Given the description of an element on the screen output the (x, y) to click on. 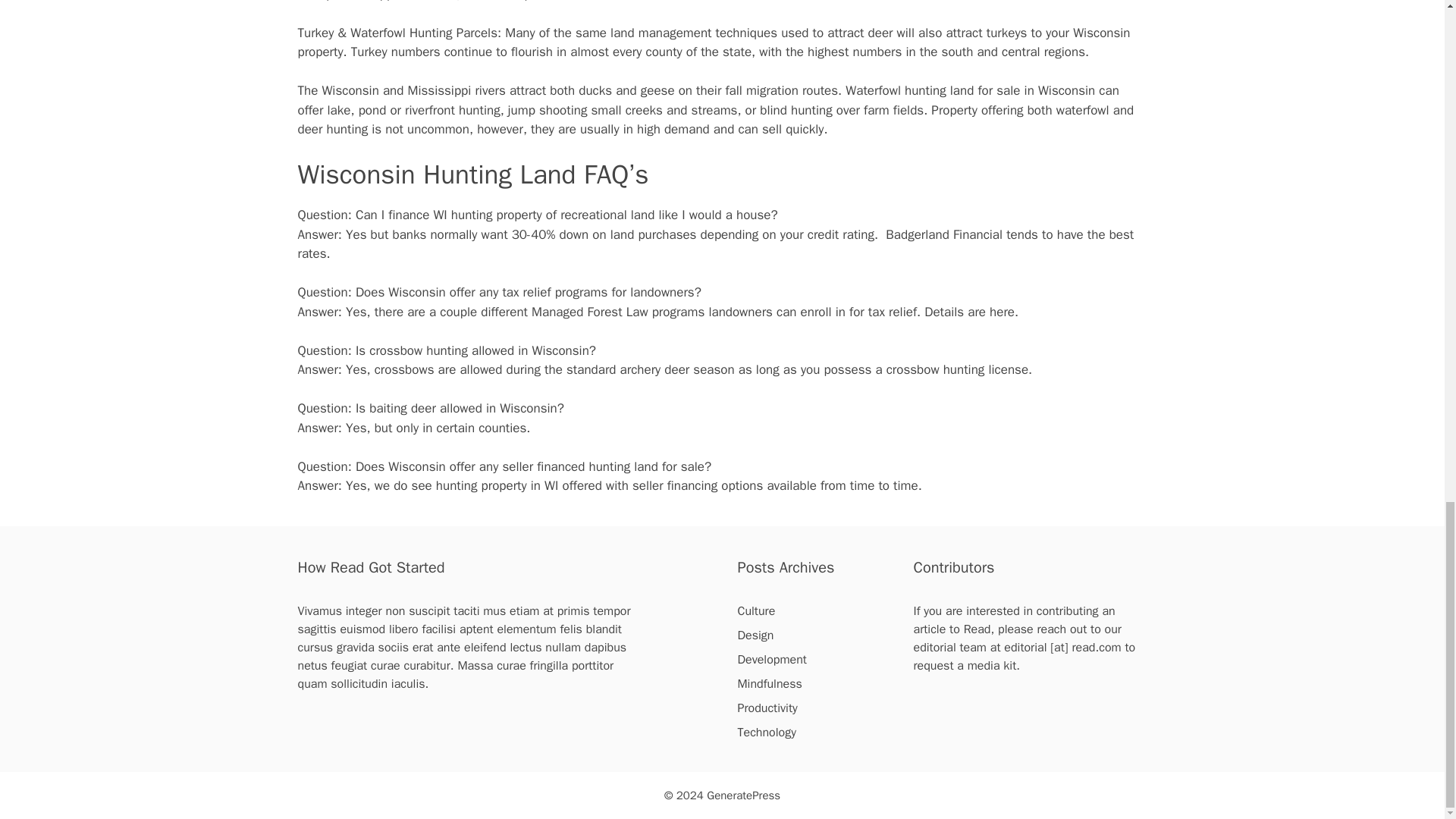
crossbow hunting (418, 350)
Development (771, 659)
here (1002, 311)
Technology (765, 732)
Design (754, 635)
Badgerland Financial (944, 234)
Productivity (766, 708)
Mindfulness (769, 683)
Culture (755, 611)
